Given the description of an element on the screen output the (x, y) to click on. 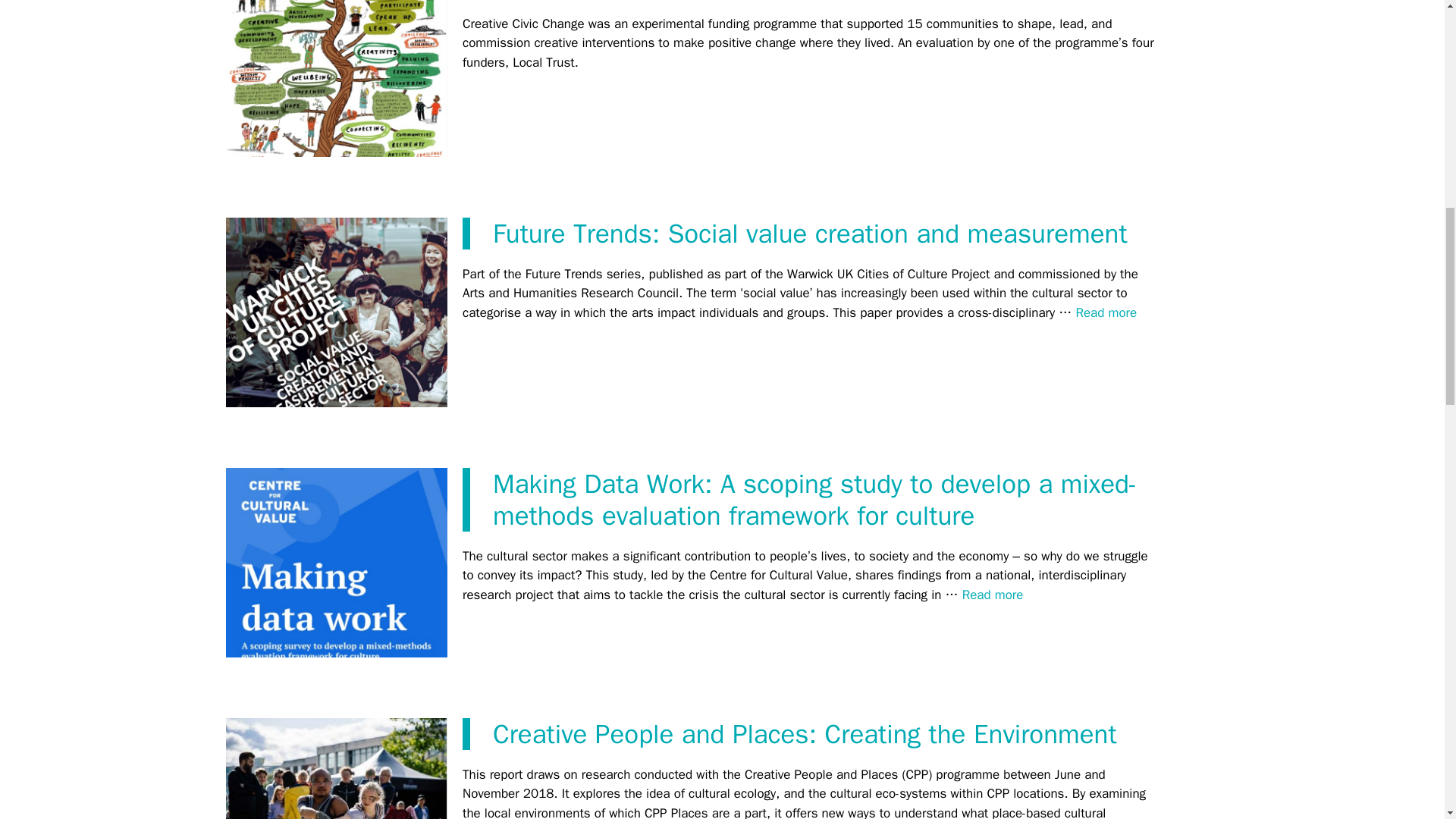
Read more (992, 594)
Creative People and Places: Creating the Environment (804, 734)
Future Trends: Social value creation and measurement (809, 233)
Future Trends: Social value creation and measurement (1106, 312)
Read more (1106, 312)
